Given the description of an element on the screen output the (x, y) to click on. 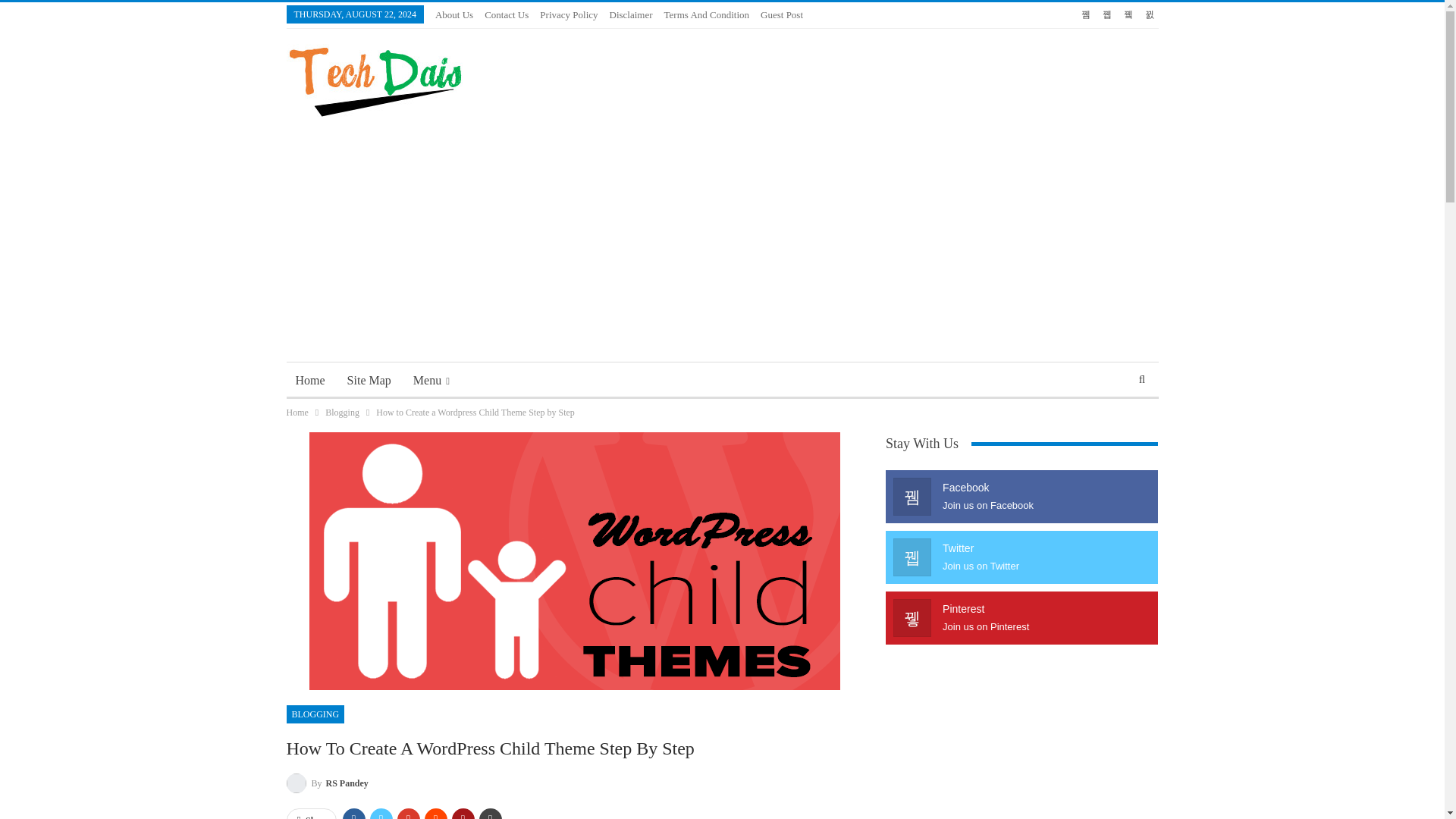
Site Map (368, 380)
Blogging (341, 412)
Guest Post (781, 14)
Disclaimer (631, 14)
Browse Author Articles (327, 783)
By RS Pandey (327, 783)
Contact Us (506, 14)
Advertisement (882, 79)
Home (310, 380)
